Given the description of an element on the screen output the (x, y) to click on. 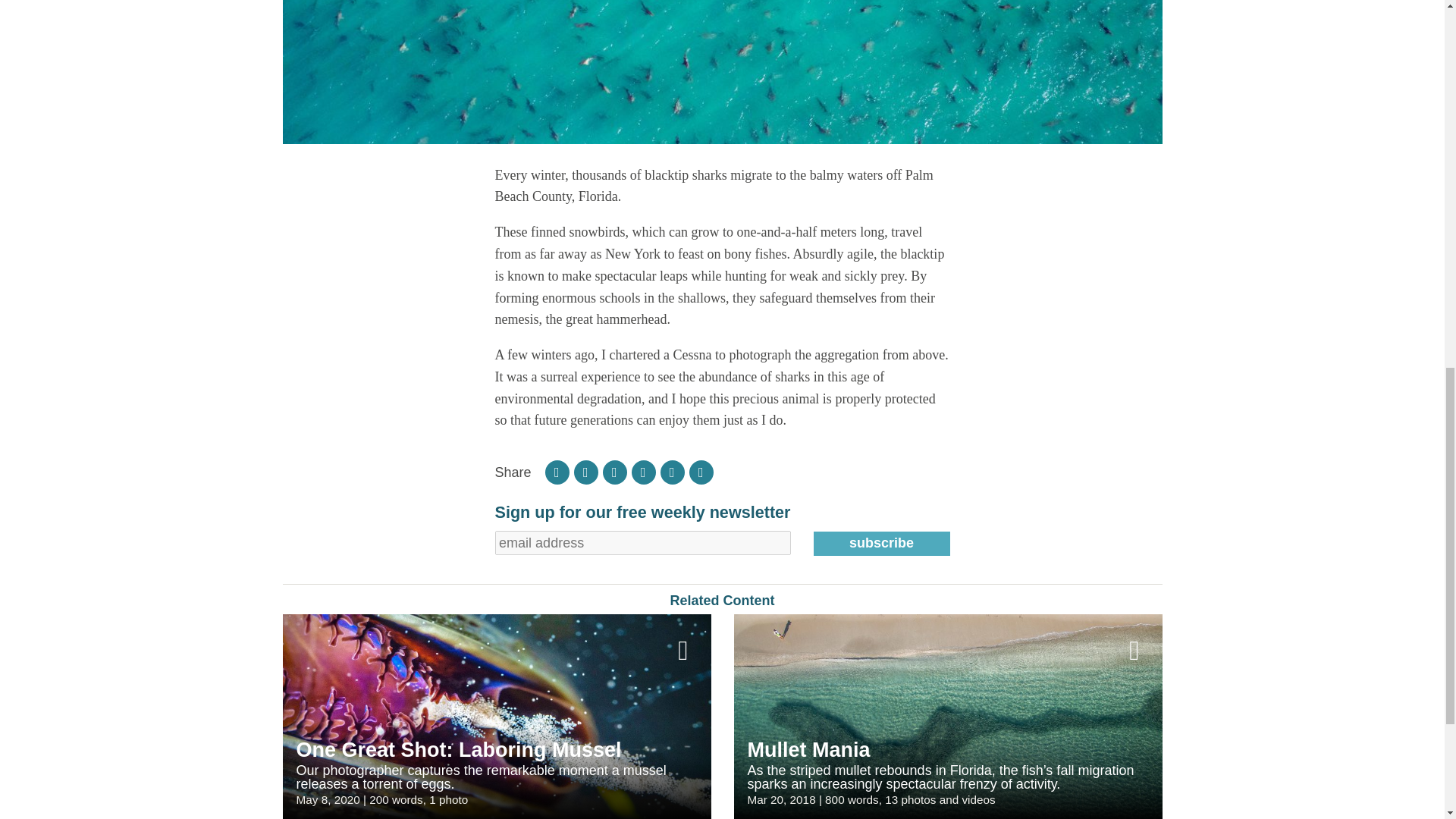
Share on Mastodon (672, 472)
Share on Twitter (614, 472)
Share by Email (700, 472)
Share on Flipboard (556, 472)
Share on Pocket (643, 472)
Share on Facebook (585, 472)
